Given the description of an element on the screen output the (x, y) to click on. 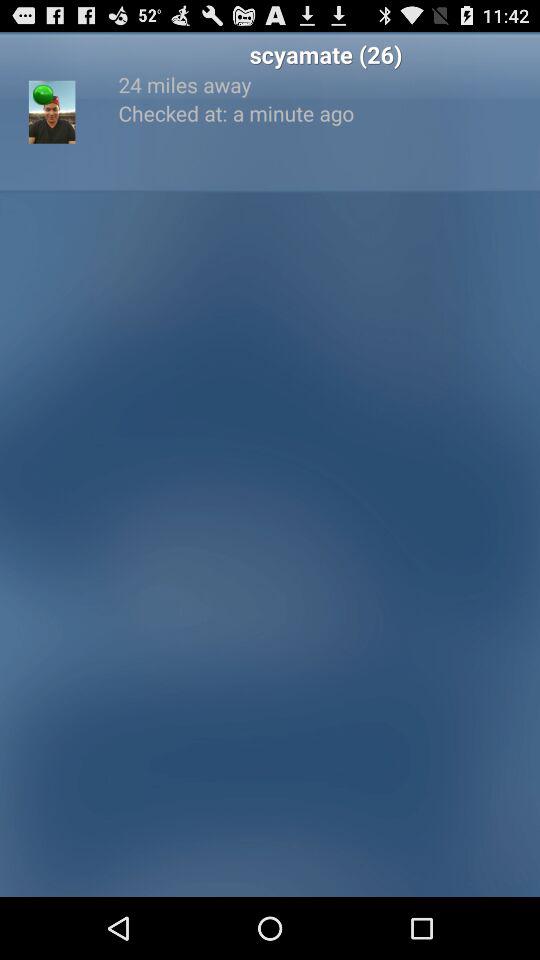
click the item to the left of 24 miles away item (51, 111)
